Given the description of an element on the screen output the (x, y) to click on. 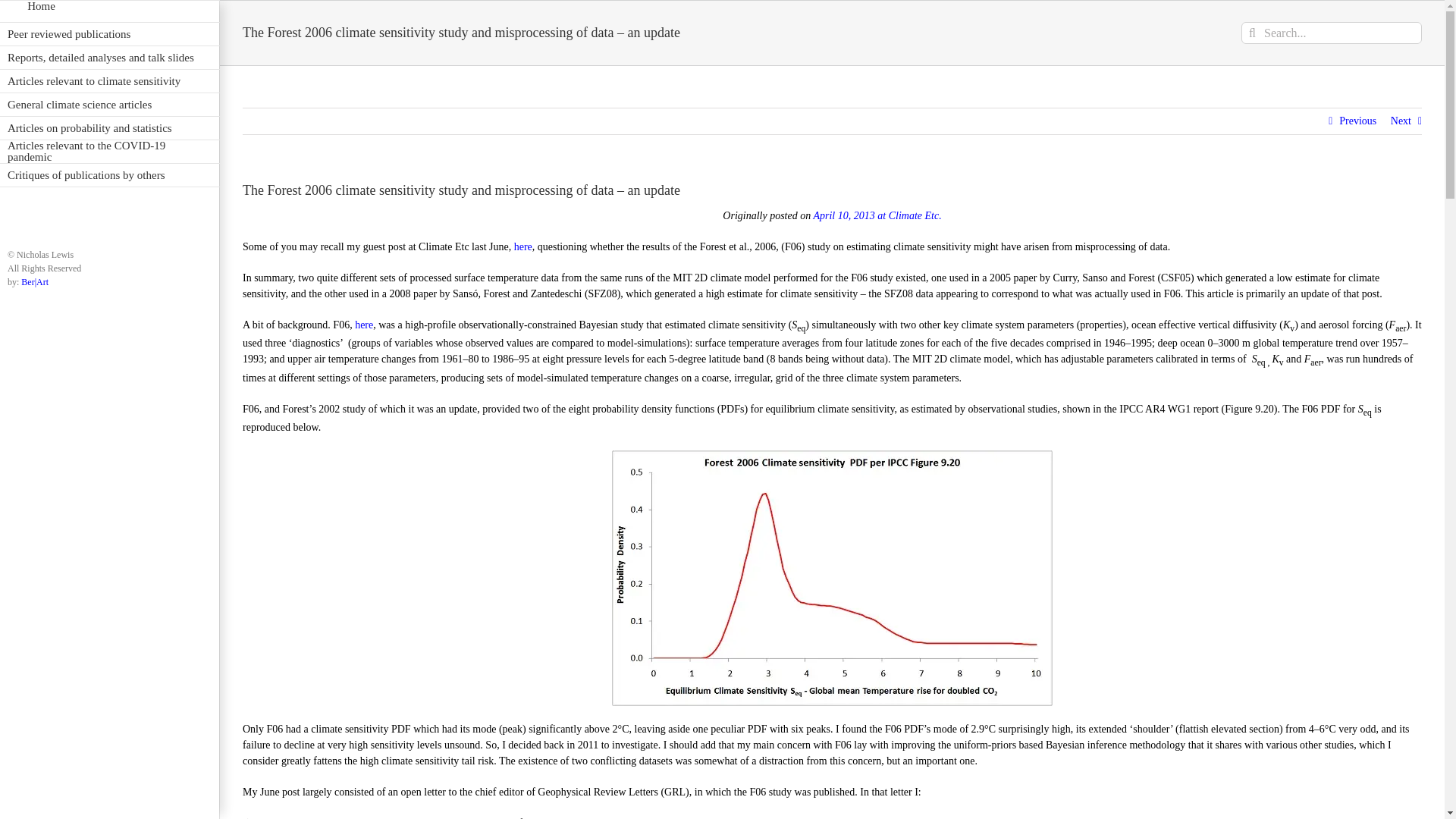
Peer reviewed publications (109, 33)
Previous (1357, 121)
Critiques of publications by others (109, 175)
General climate science articles (109, 105)
WordPress Hosting Design Social Media (34, 281)
here (363, 324)
Articles on probability and statistics (109, 128)
here (522, 246)
Articles relevant to climate sensitivity (109, 81)
Home (109, 11)
Articles relevant to the COVID-19 pandemic (109, 151)
Reports, detailed analyses and talk slides (109, 57)
April 10, 2013 at Climate Etc. (876, 215)
